Given the description of an element on the screen output the (x, y) to click on. 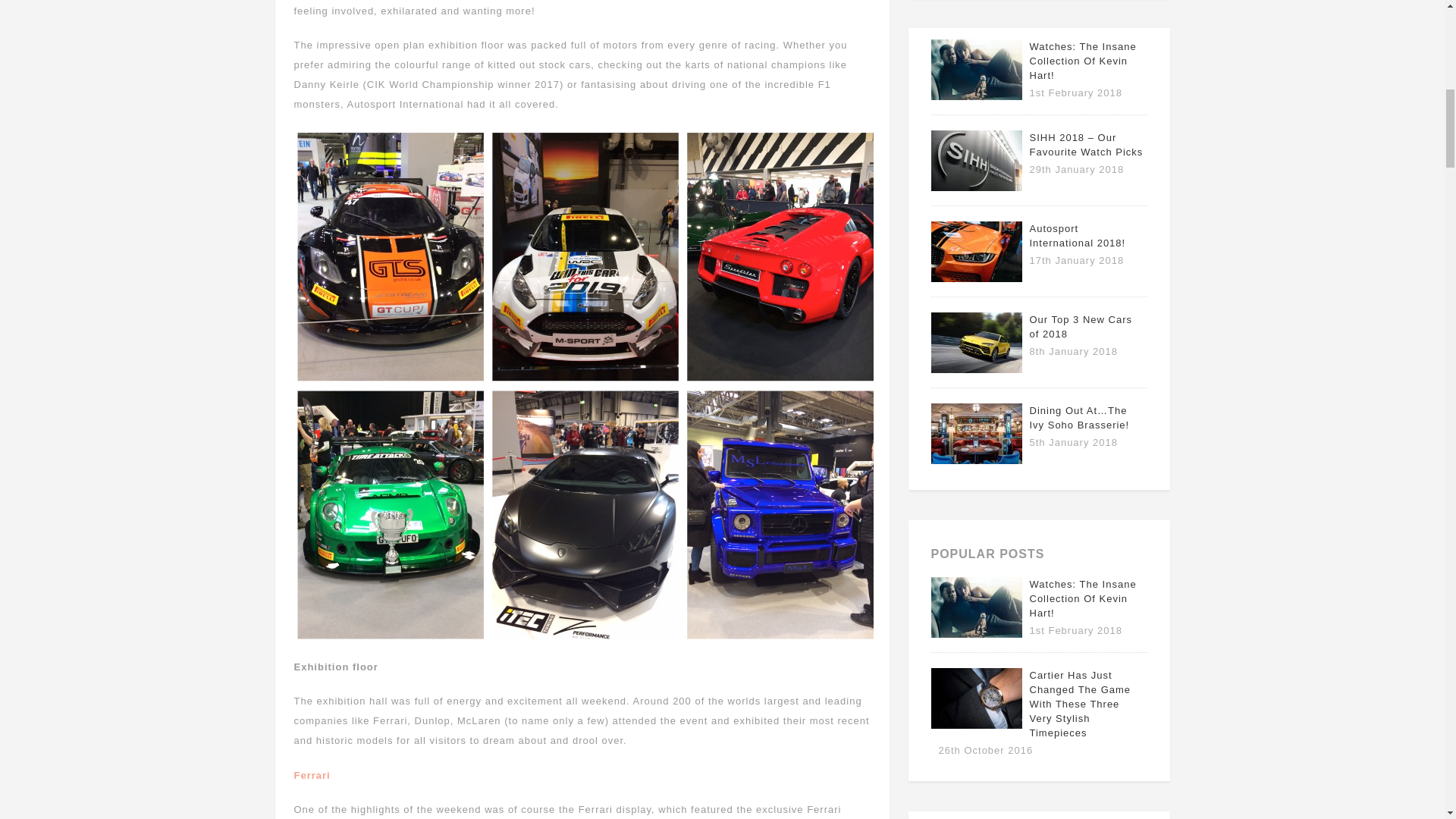
Permanent Link to Our Top 3 New Cars of 2018 (976, 369)
Permanent Link to Autosport International 2018! (1077, 235)
Permanent Link to Our Top 3 New Cars of 2018 (1080, 326)
Permanent Link to Autosport International 2018! (976, 278)
